Given the description of an element on the screen output the (x, y) to click on. 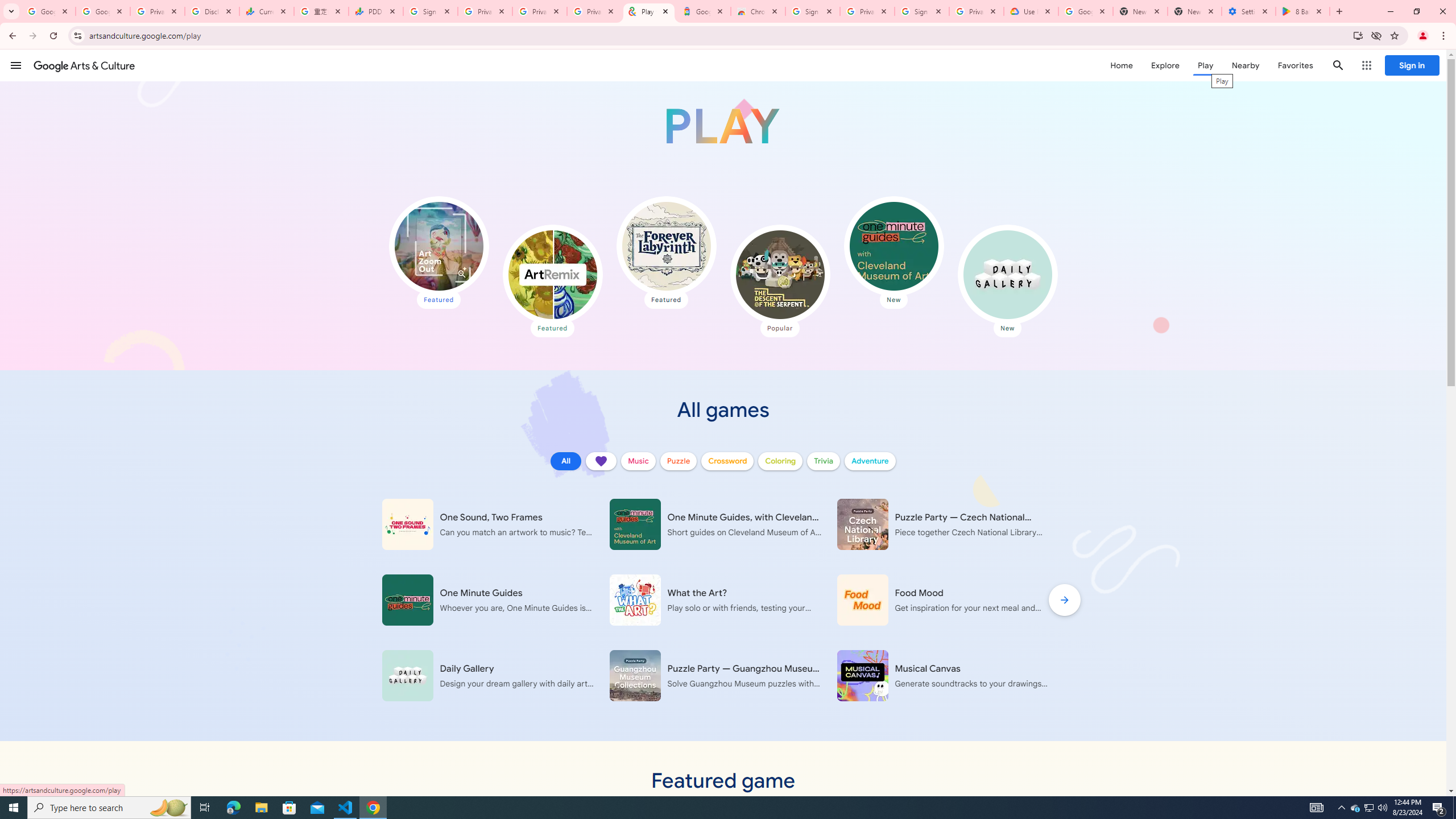
Art Remix (552, 274)
Explore (1164, 65)
The Forever Labyrinth (665, 246)
One Minute Guides, with Cleveland Museum of Art (893, 246)
Privacy Checkup (539, 11)
Nearby (1244, 65)
Art Zoom Out (438, 246)
Menu (15, 65)
